Given the description of an element on the screen output the (x, y) to click on. 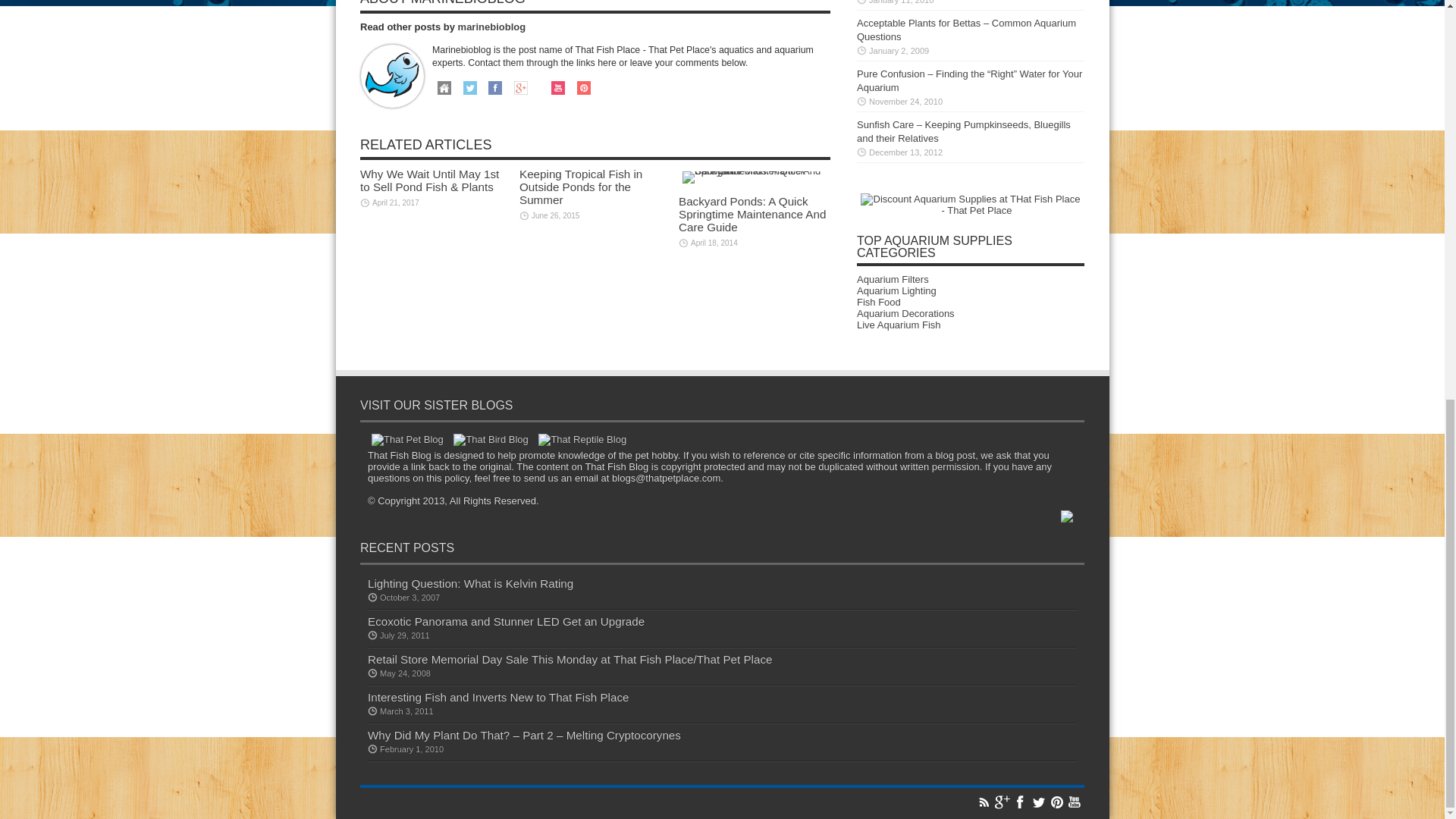
Posts by marinebioblog (491, 26)
marinebioblog (491, 26)
